Given the description of an element on the screen output the (x, y) to click on. 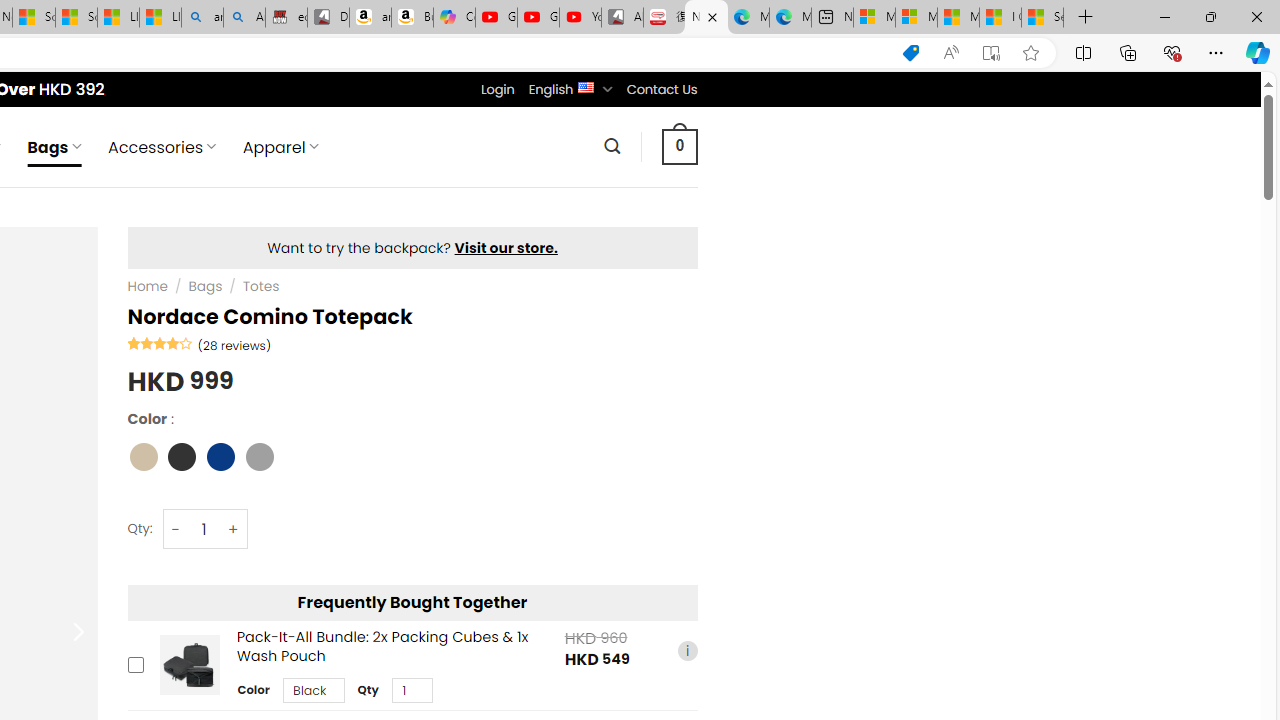
Visit our store. (506, 247)
Add this product to cart (134, 664)
Enter Immersive Reader (F9) (991, 53)
This site has coupons! Shopping in Microsoft Edge (910, 53)
Amazon Echo Dot PNG - Search Images (244, 17)
Home (147, 286)
